Given the description of an element on the screen output the (x, y) to click on. 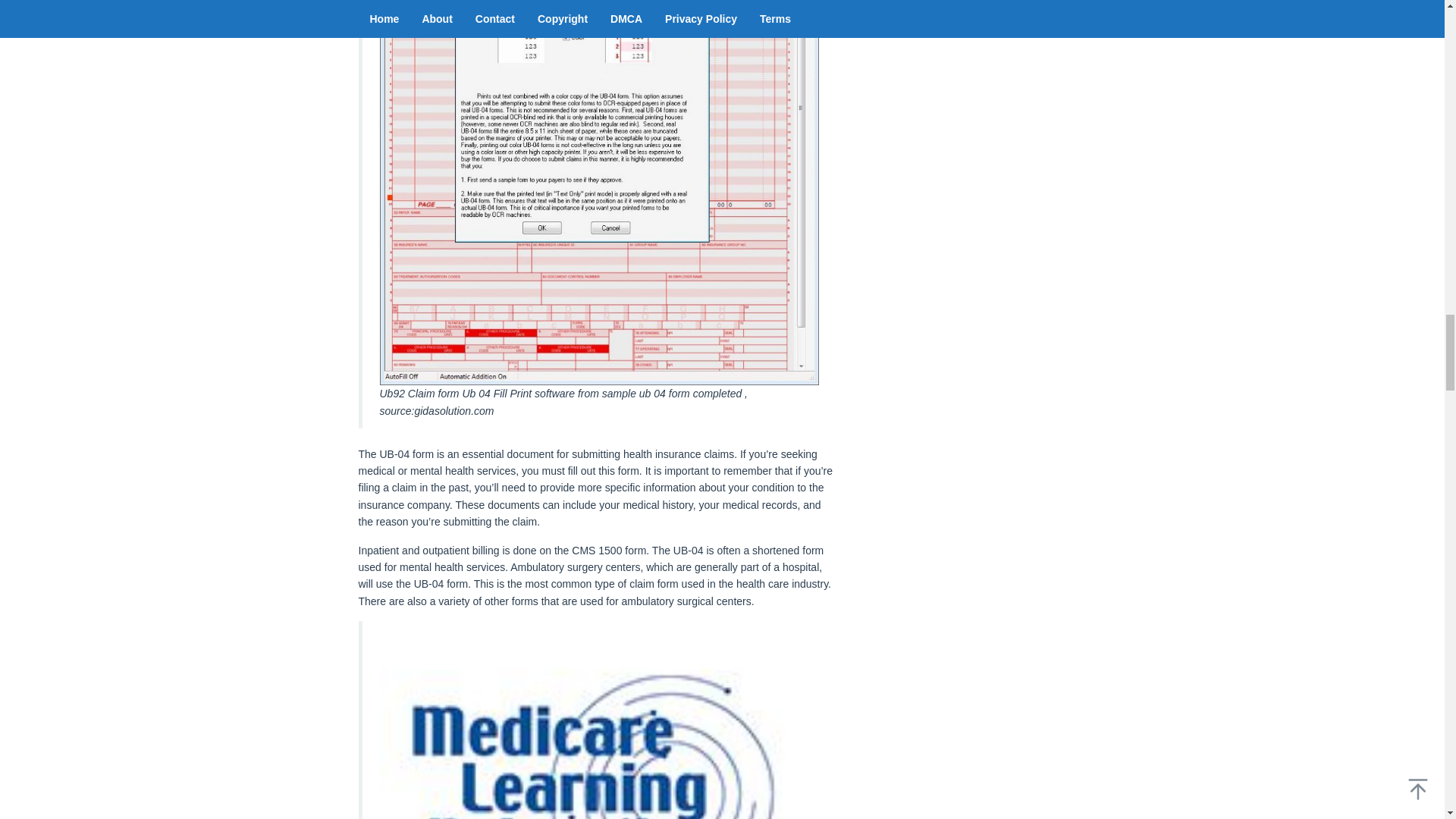
Medicare Required SNF PPS Assessments (598, 724)
